Given the description of an element on the screen output the (x, y) to click on. 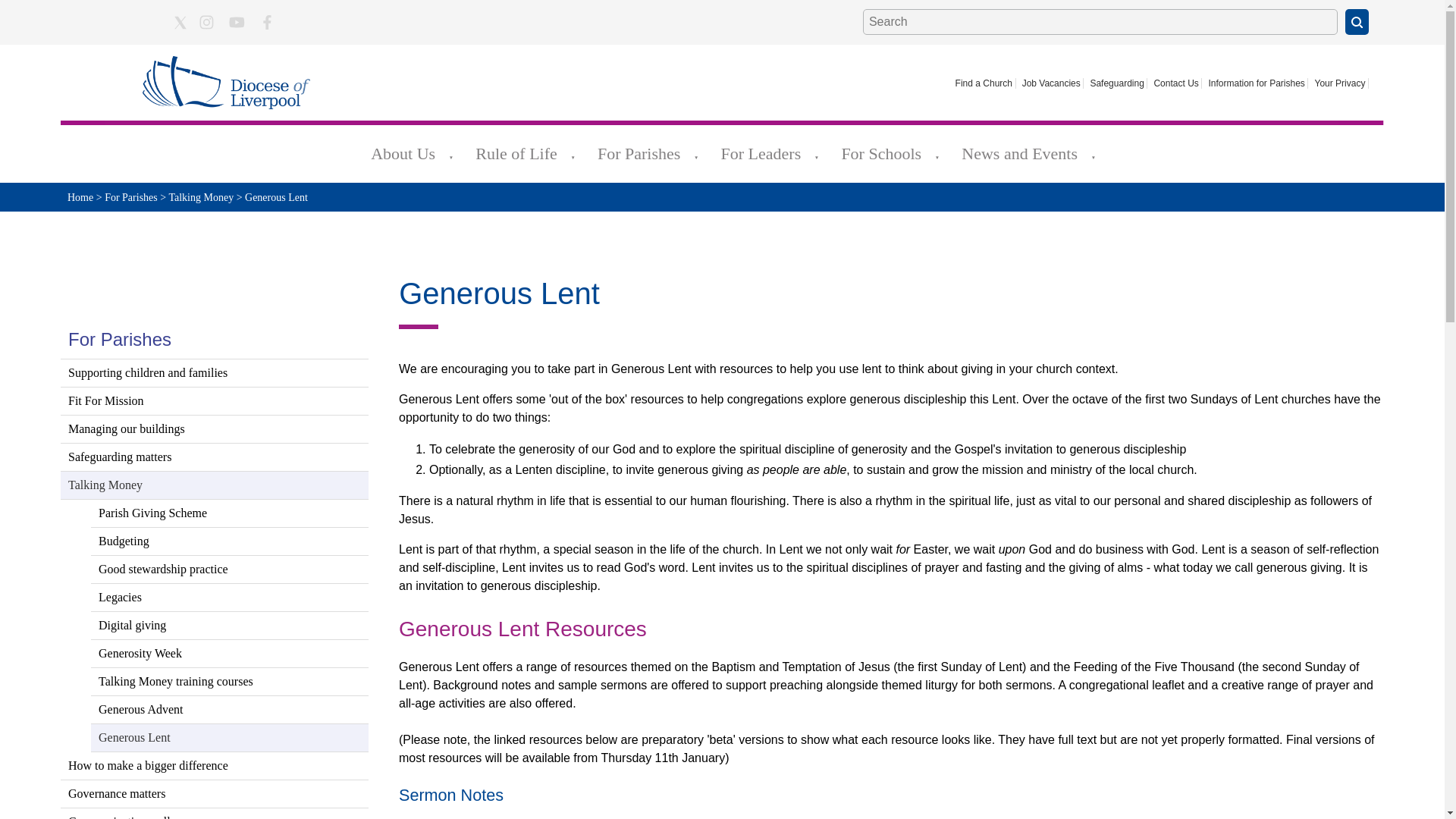
Information for Parishes (1256, 82)
Contact Us (1176, 82)
Find a Church (984, 82)
Your Privacy (1339, 82)
Job Vacancies (1051, 82)
